Given the description of an element on the screen output the (x, y) to click on. 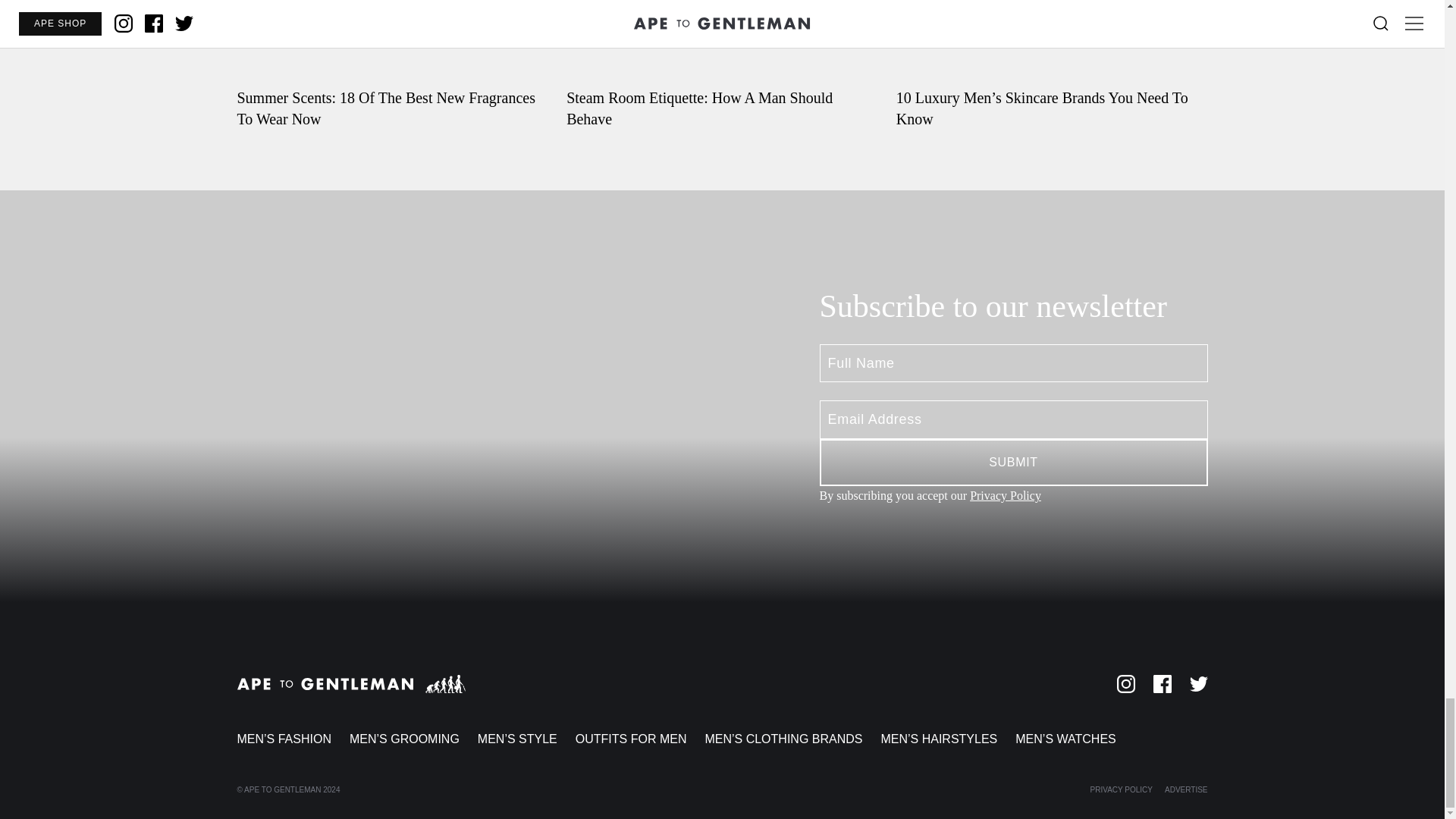
Steam Room Etiquette: How A Man Should Behave (721, 64)
Submit (1012, 462)
Instagram (1125, 683)
Summer Scents: 18 Of The Best New Fragrances To Wear Now (391, 64)
